Given the description of an element on the screen output the (x, y) to click on. 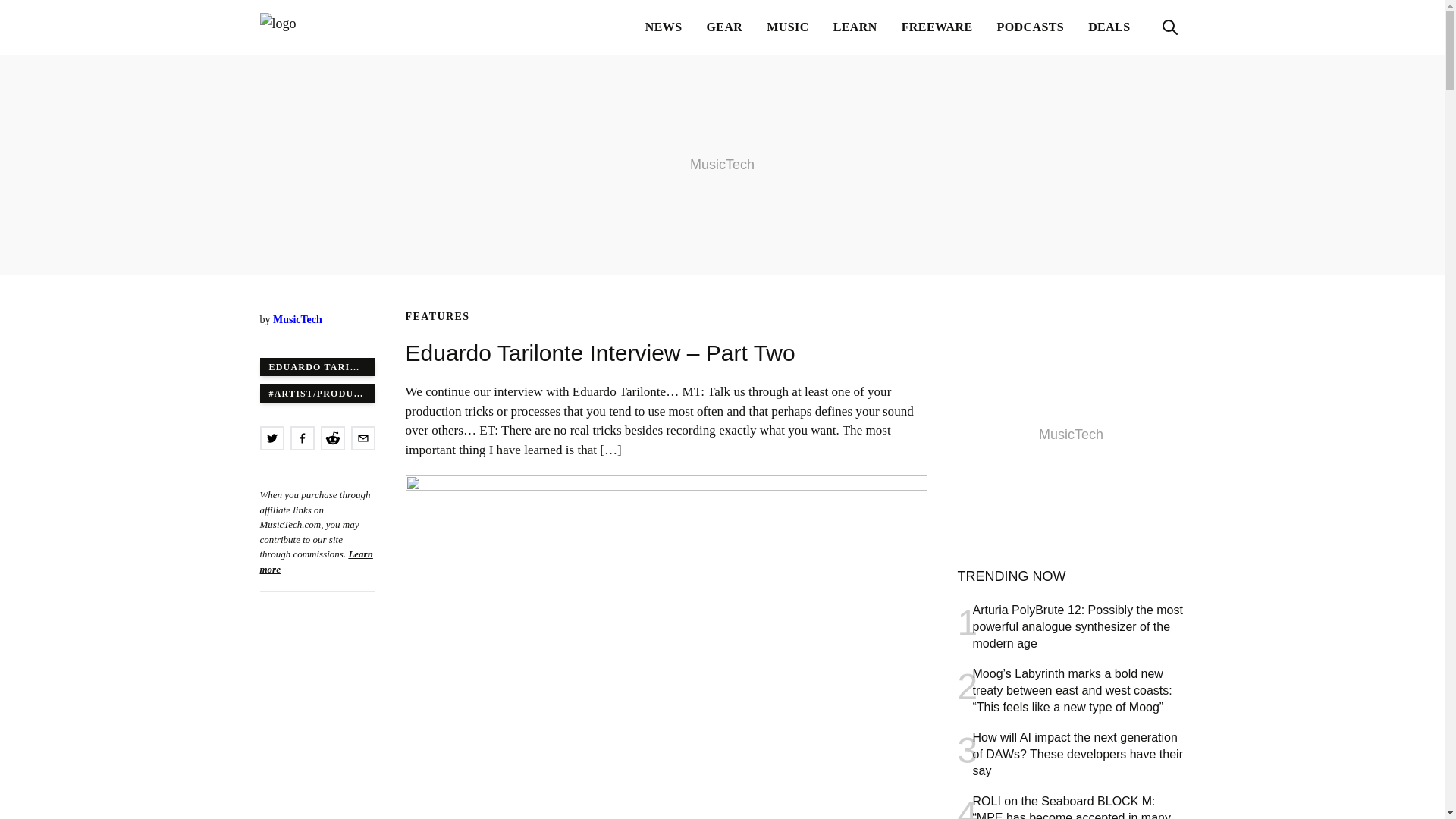
Eduardo Tarilonte (316, 366)
DEALS (1108, 27)
EDUARDO TARILONTE (316, 366)
FEATURES (436, 316)
PODCASTS (1030, 27)
MUSIC (786, 27)
MusicTech (297, 319)
LEARN (855, 27)
Published November 25, 2014 12:14PM (316, 335)
FREEWARE (936, 27)
Learn more (315, 560)
GEAR (724, 27)
NEWS (663, 27)
